Given the description of an element on the screen output the (x, y) to click on. 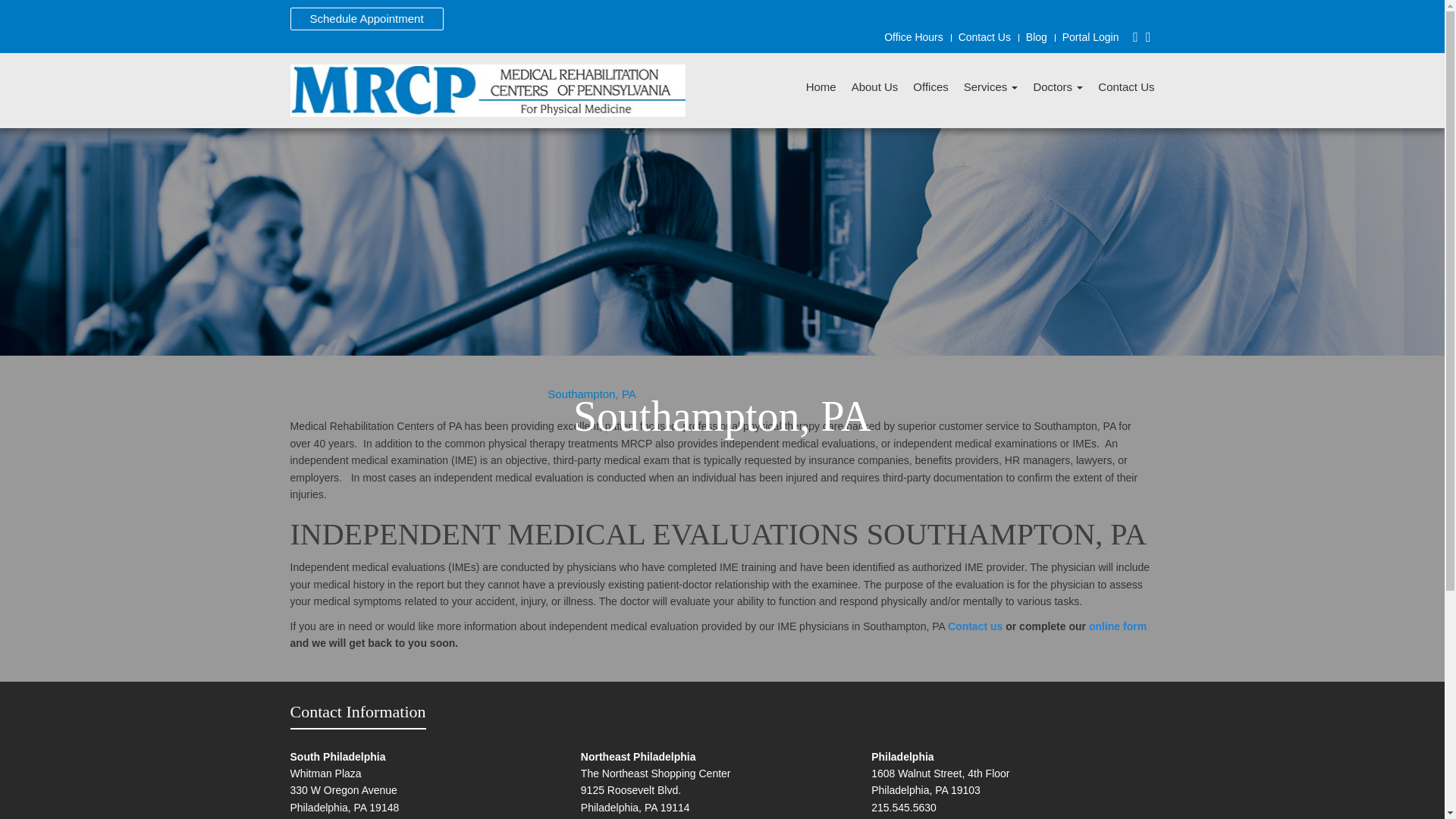
About Us (874, 90)
Blog (1036, 37)
Services (990, 90)
Doctors (1057, 90)
Contact Us (1125, 90)
Portal Login (1090, 37)
Home (820, 90)
Home (304, 393)
Offices (929, 90)
online form (1118, 625)
Schedule Appointment (365, 18)
Home (304, 393)
Contact Us (984, 37)
Contact us (975, 625)
Office Hours (913, 37)
